Given the description of an element on the screen output the (x, y) to click on. 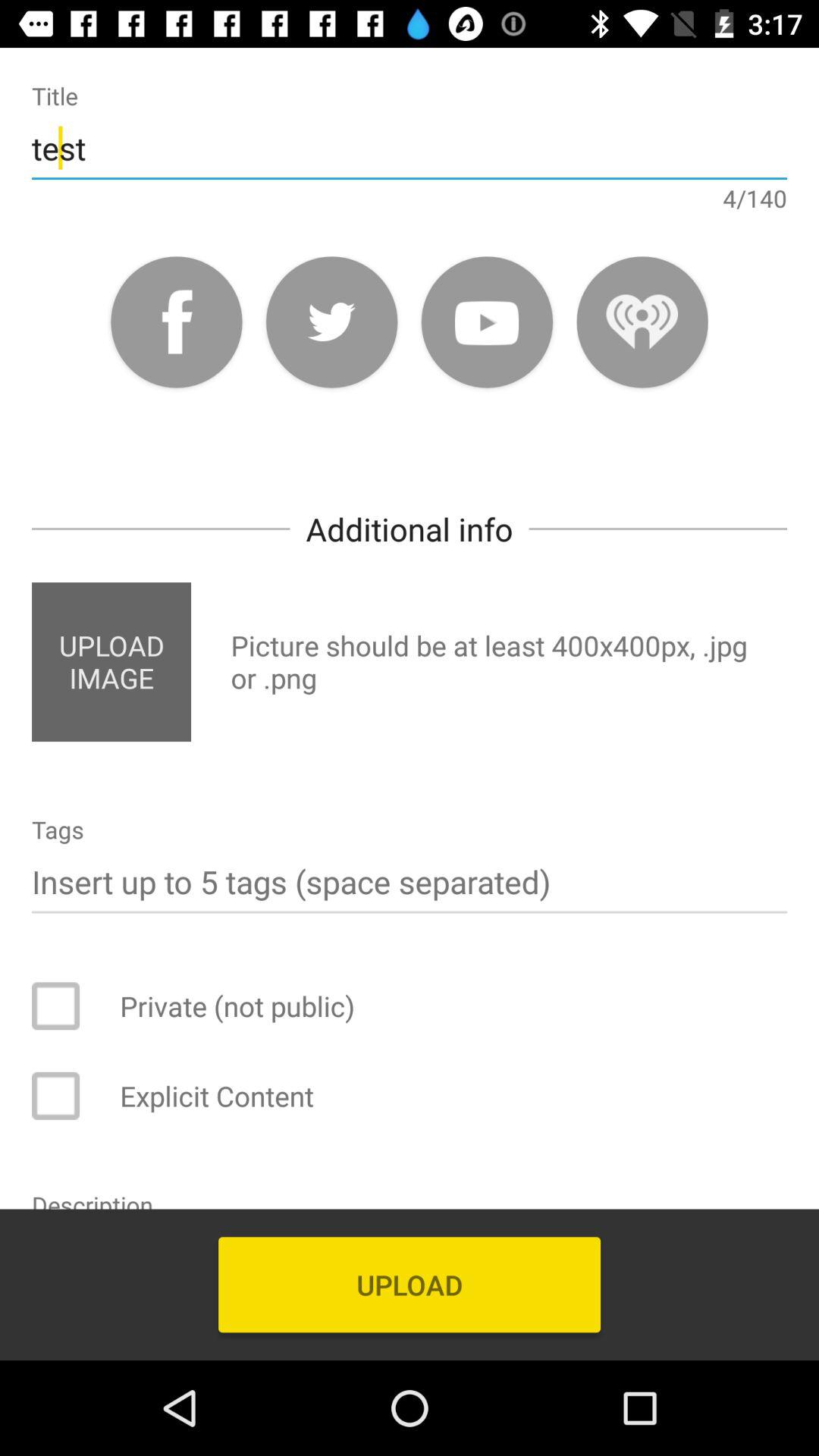
explicit content checkbox (65, 1095)
